Given the description of an element on the screen output the (x, y) to click on. 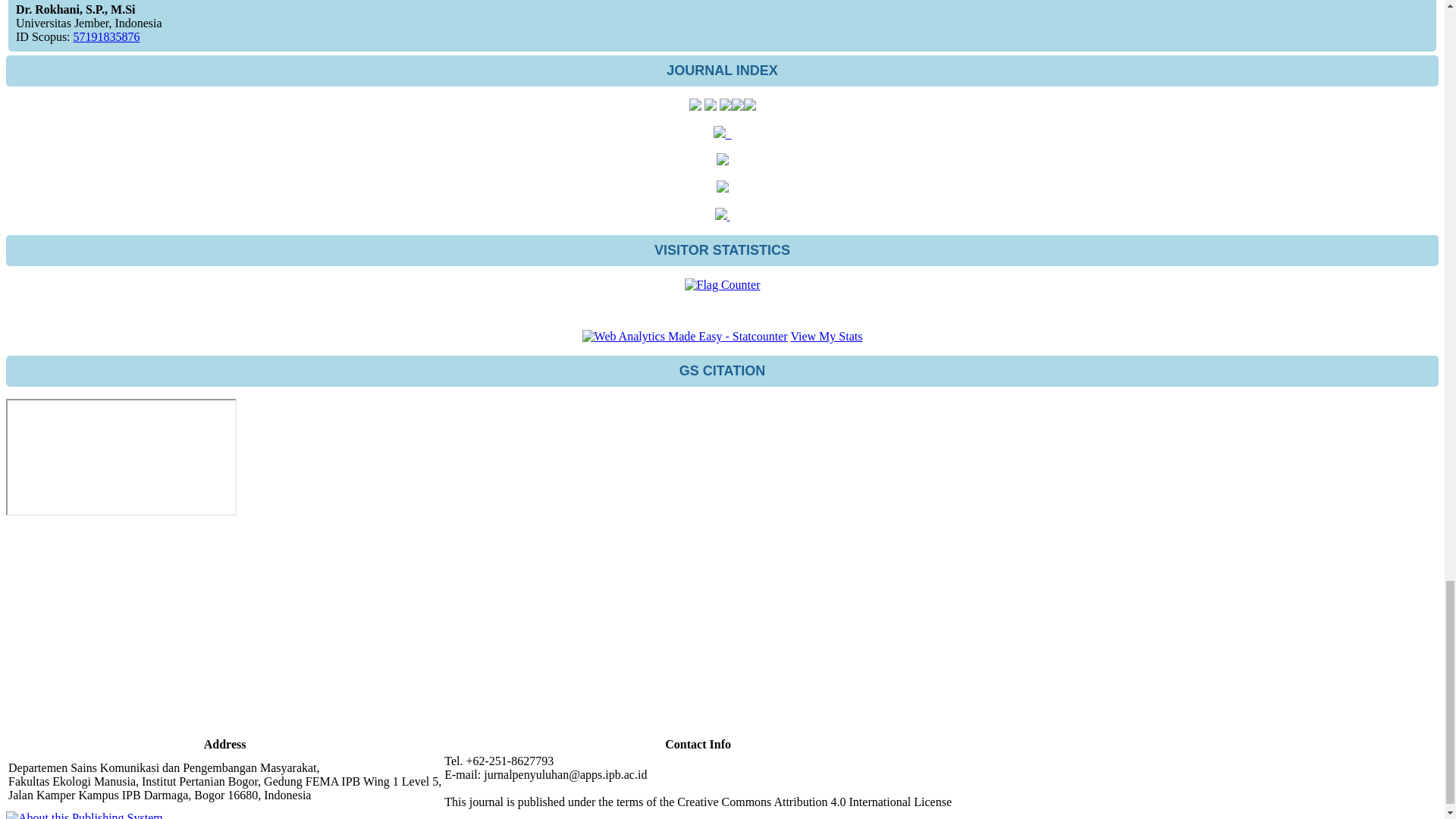
Sinta (694, 106)
Crossref (736, 106)
Scopus ID (106, 36)
Google Scholar (724, 106)
Garuda (709, 106)
DOAJ (748, 106)
Web Analytics Made Easy - Statcounter (684, 336)
